Given the description of an element on the screen output the (x, y) to click on. 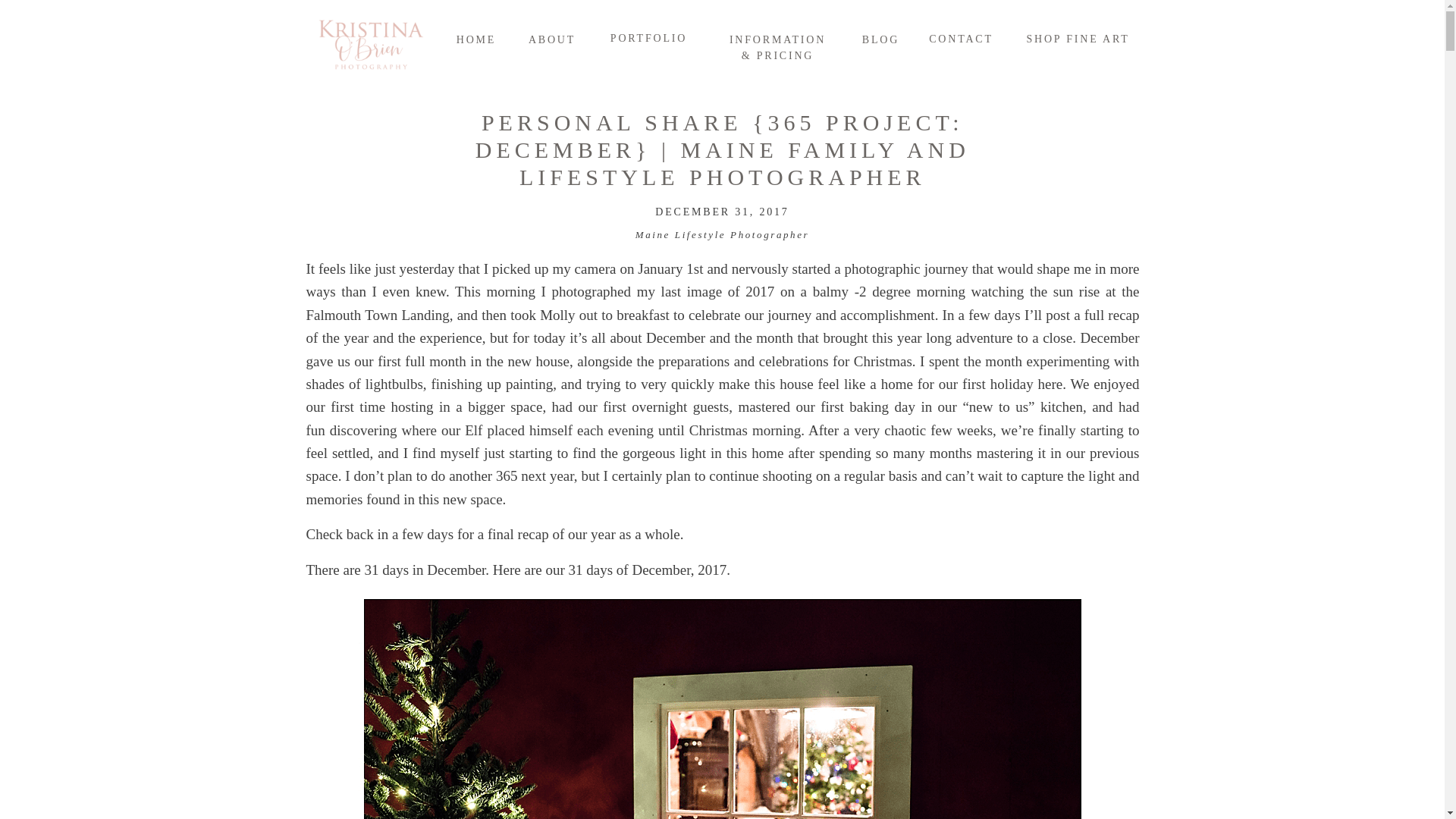
Maine Lifestyle Photographer (721, 234)
HOME (475, 38)
PORTFOLIO (648, 37)
BLOG (880, 38)
CONTACT (960, 38)
SHOP FINE ART (1077, 38)
ABOUT (550, 38)
